Given the description of an element on the screen output the (x, y) to click on. 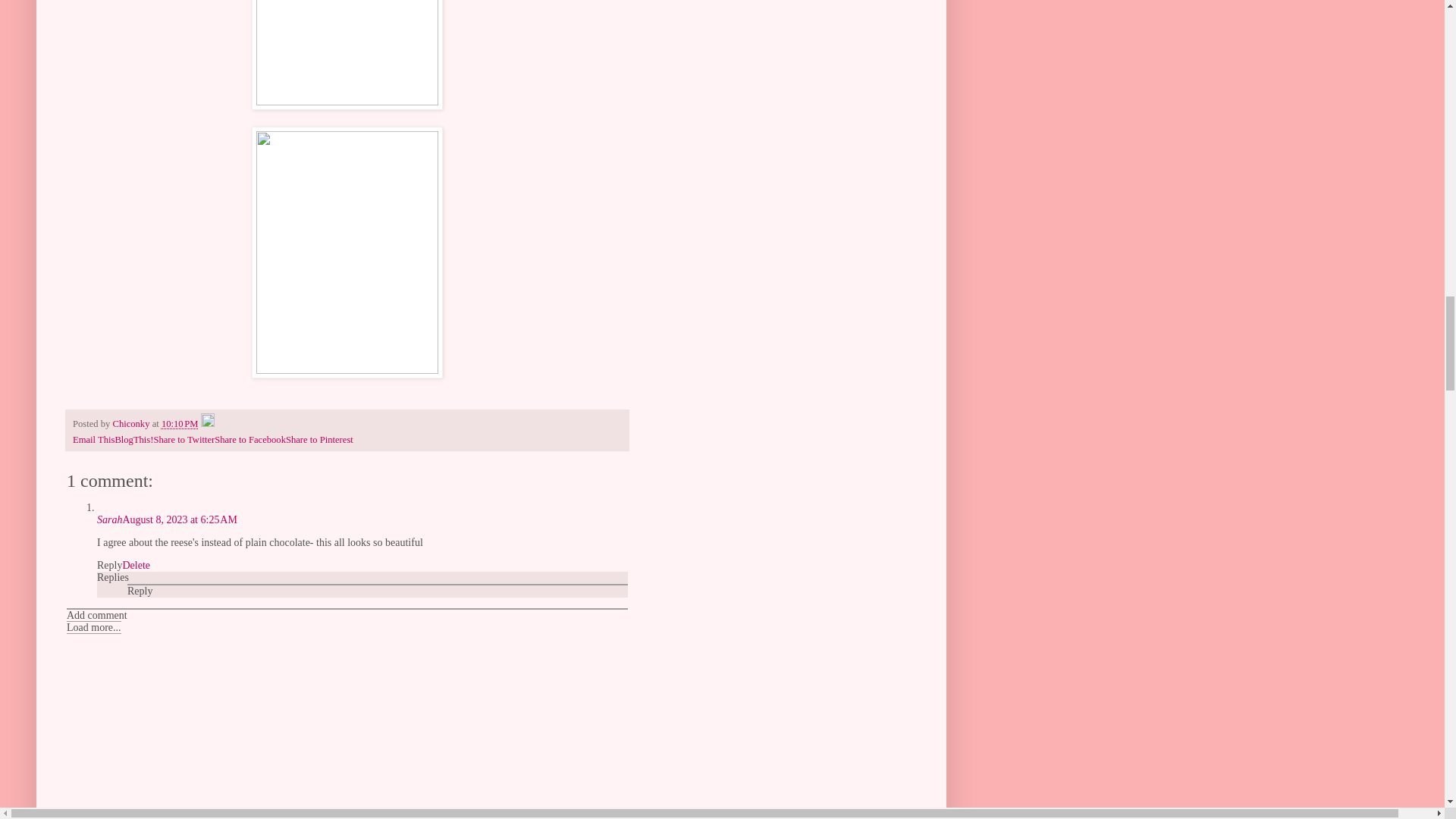
Share to Pinterest (319, 439)
BlogThis! (133, 439)
Share to Twitter (183, 439)
Share to Facebook (249, 439)
Reply (109, 564)
Chiconky (131, 423)
Share to Twitter (183, 439)
Sarah (109, 519)
Replies (113, 577)
Delete (135, 564)
Email This (93, 439)
Add comment (97, 614)
permanent link (179, 423)
